Given the description of an element on the screen output the (x, y) to click on. 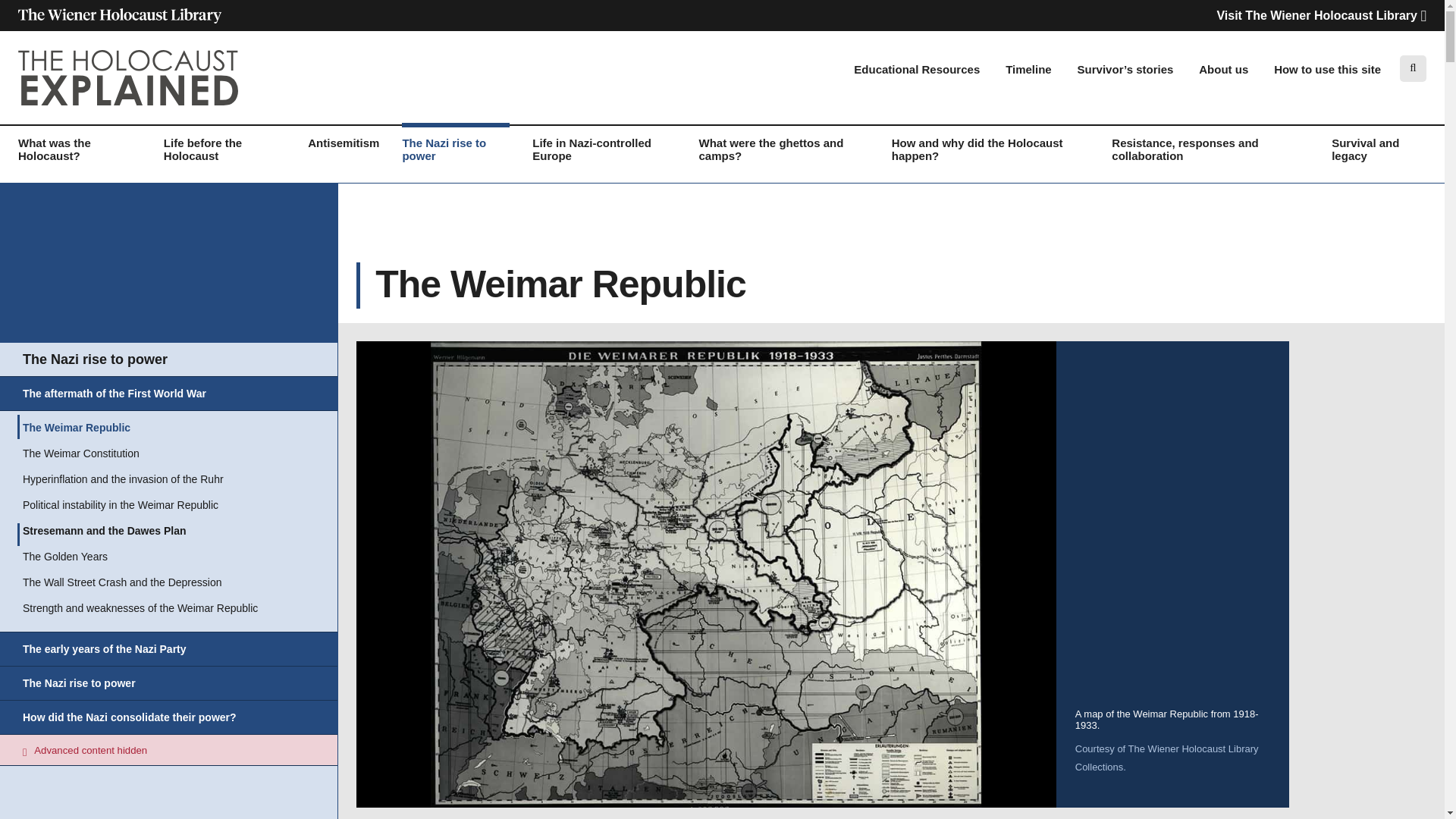
Visit The Wiener Holocaust Library (1320, 15)
The Nazi rise to power (455, 154)
The Nazi rise to power (95, 363)
Hyperinflation and the invasion of the Ruhr (123, 483)
How to use this site (1327, 69)
Survival and legacy (1379, 154)
About us (1222, 69)
Life in Nazi-controlled Europe (603, 154)
Antisemitism (342, 148)
What was the Holocaust? (79, 154)
